Given the description of an element on the screen output the (x, y) to click on. 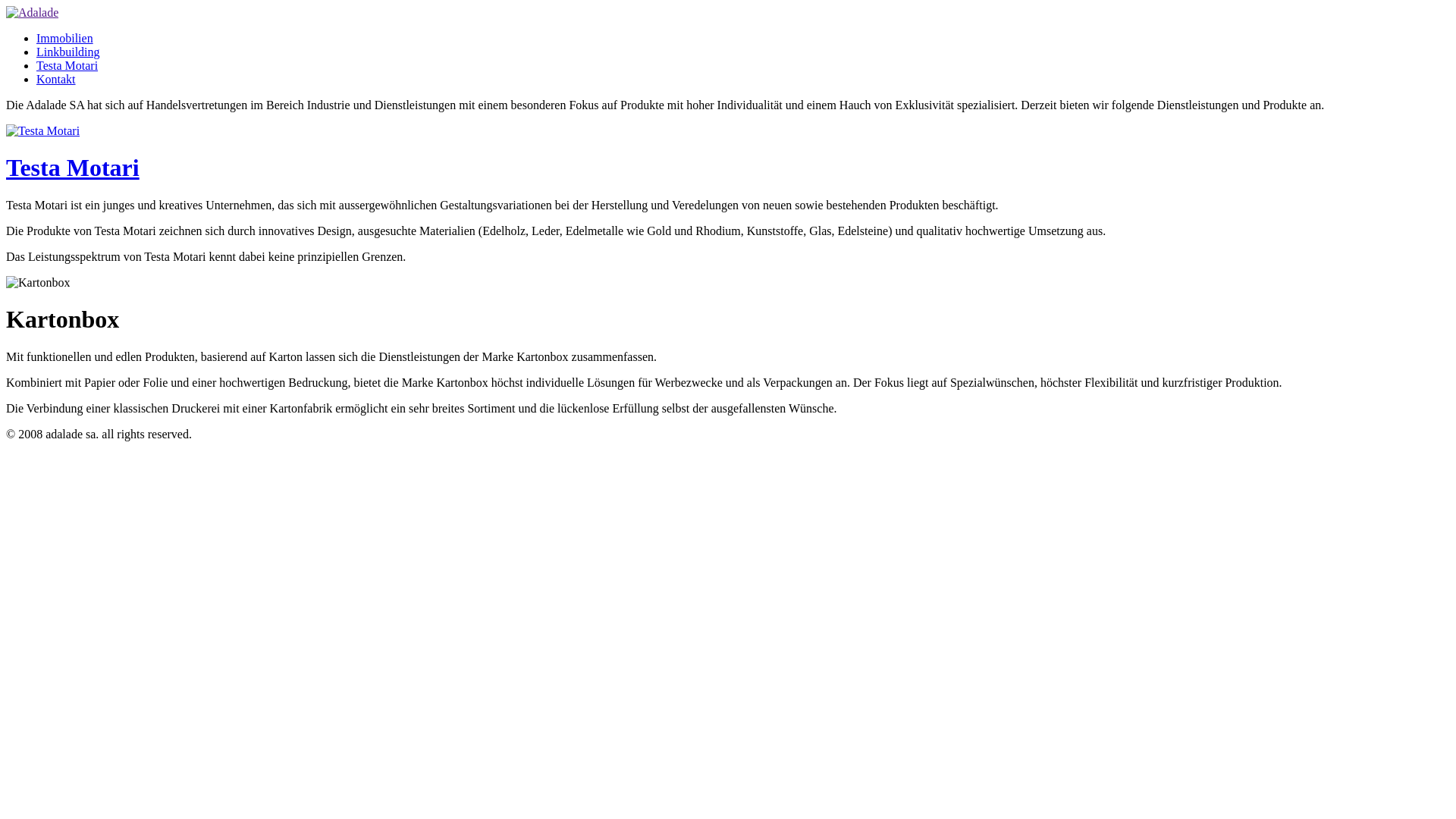
Kartonbox Element type: hover (37, 282)
Testa Motari Element type: text (66, 65)
Kontakt Element type: text (55, 78)
Testa Motari Element type: hover (42, 130)
Linkbuilding Element type: text (68, 51)
Testa Motari Element type: text (72, 167)
Immobilien Element type: text (64, 37)
